Given the description of an element on the screen output the (x, y) to click on. 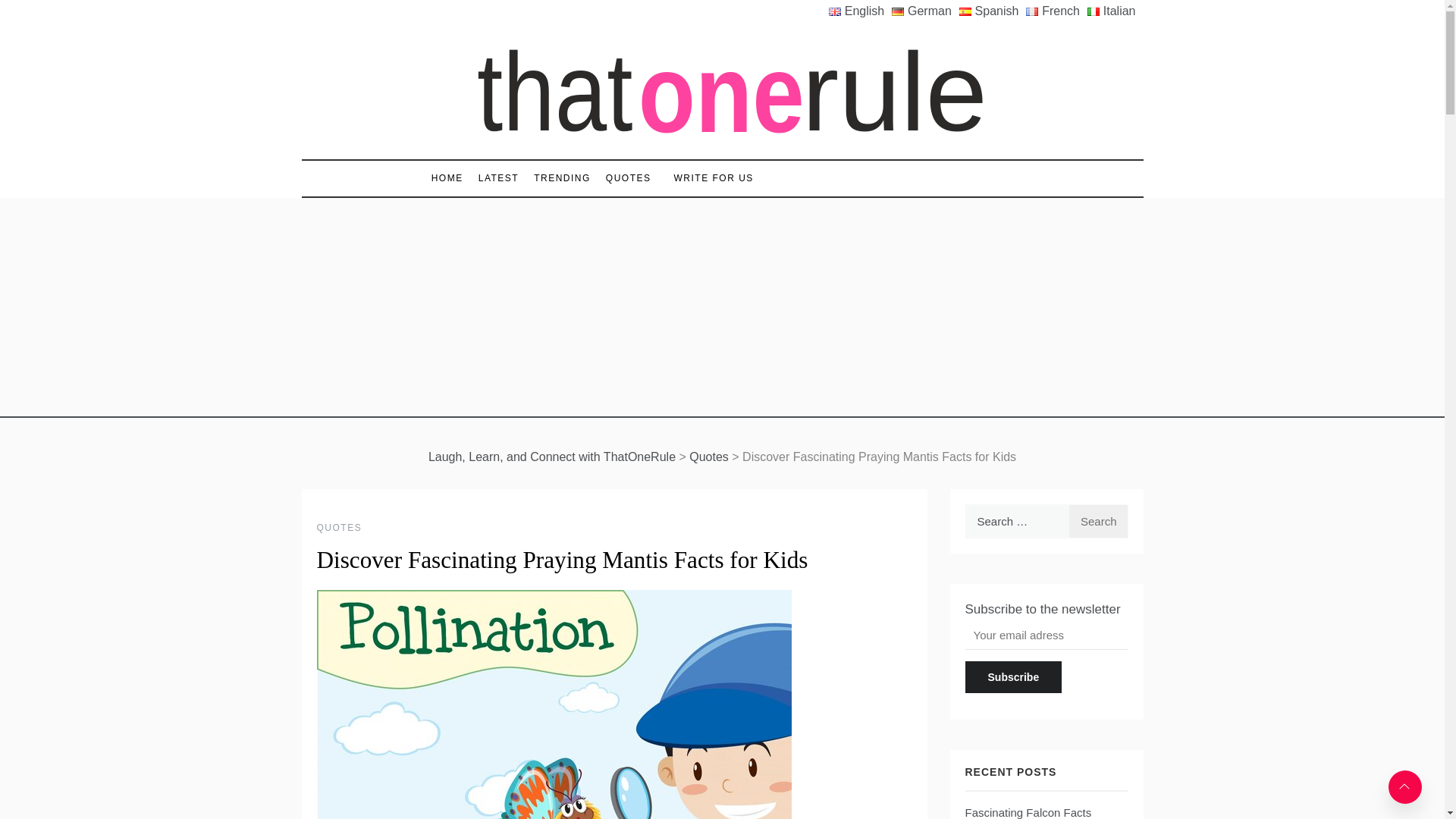
Search (1098, 521)
Laugh, Learn, and Connect with ThatOneRule (551, 456)
HOME (450, 178)
Italian (1114, 11)
QUOTES (339, 527)
Spanish (992, 11)
WRITE FOR US (706, 178)
German (925, 11)
Go to the Quotes Category archives. (708, 456)
